Given the description of an element on the screen output the (x, y) to click on. 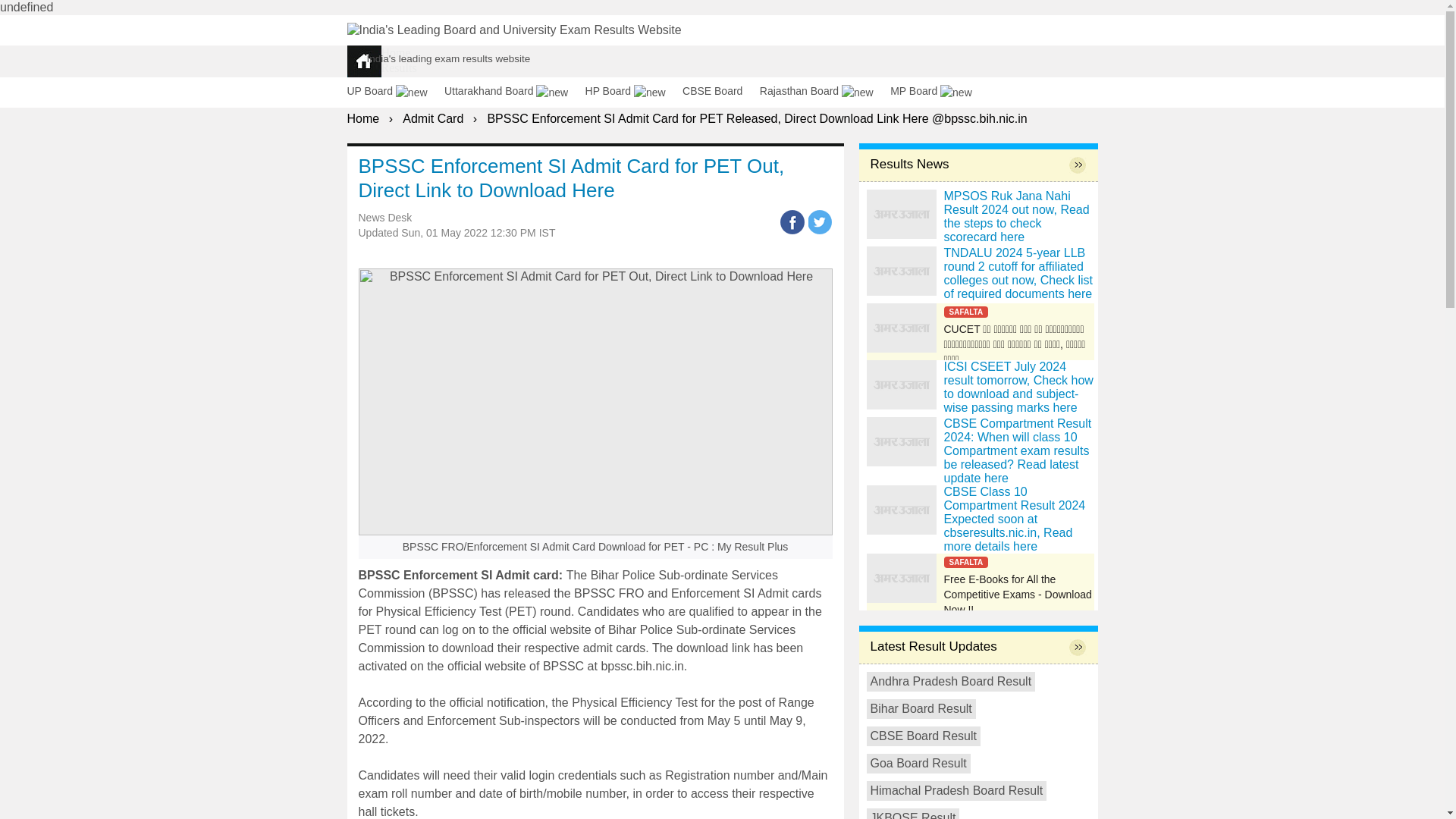
MP Board (937, 91)
CBSE Board (718, 91)
Uttarakhand Board (512, 91)
HP Board (632, 91)
Results (398, 67)
Admit Card (409, 82)
Home (395, 51)
Admit Card (433, 118)
Home (363, 118)
UP Board (394, 91)
